Given the description of an element on the screen output the (x, y) to click on. 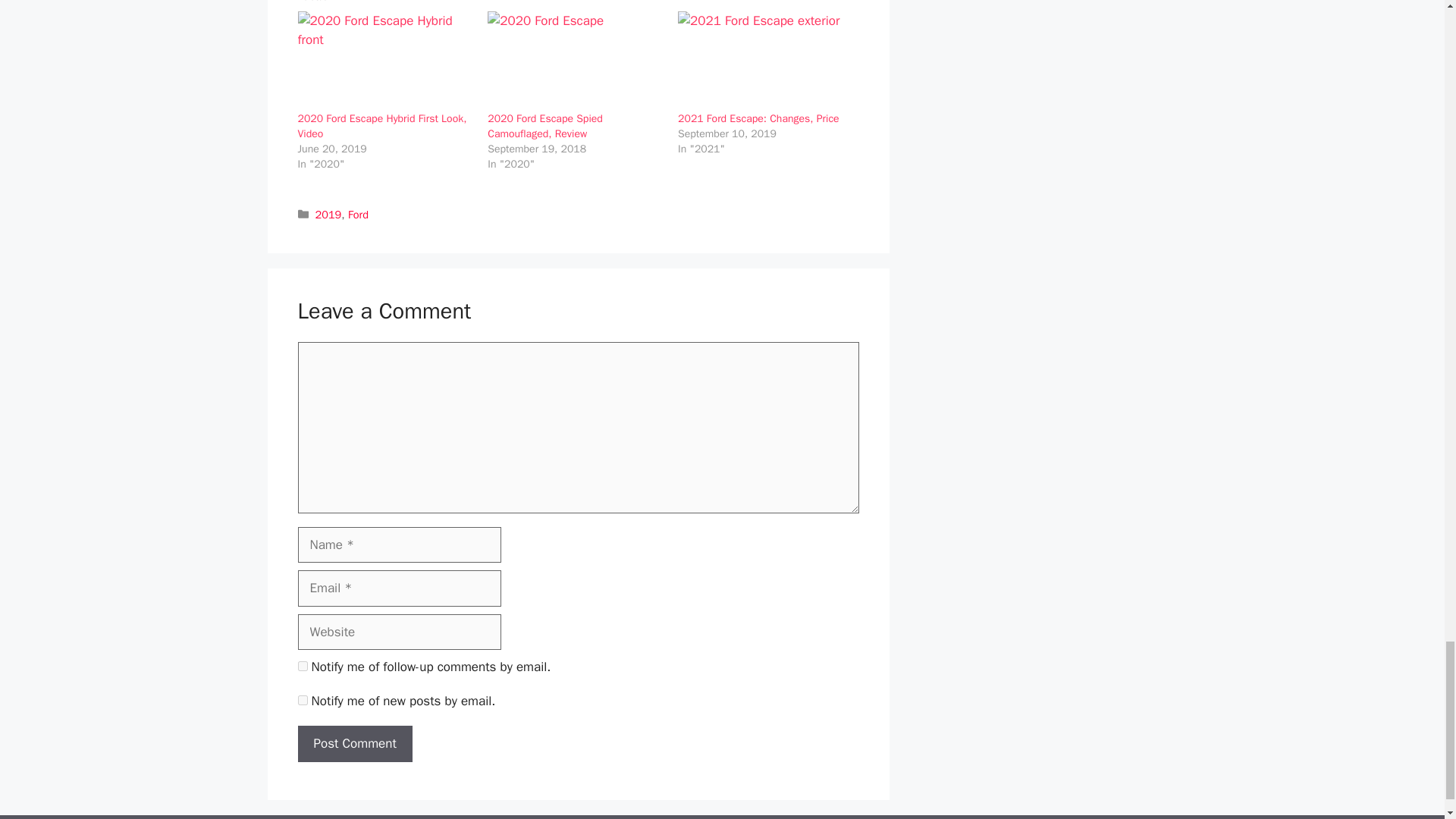
Post Comment (354, 743)
2020 Ford Escape Hybrid First Look, Video (381, 126)
2020 Ford Escape Hybrid First Look, Video (381, 126)
2020 Ford Escape Spied Camouflaged, Review (544, 126)
2020 Ford Escape Spied Camouflaged, Review (574, 61)
subscribe (302, 665)
subscribe (302, 700)
2020 Ford Escape Hybrid First Look, Video (384, 61)
2020 Ford Escape Spied Camouflaged, Review (544, 126)
